Given the description of an element on the screen output the (x, y) to click on. 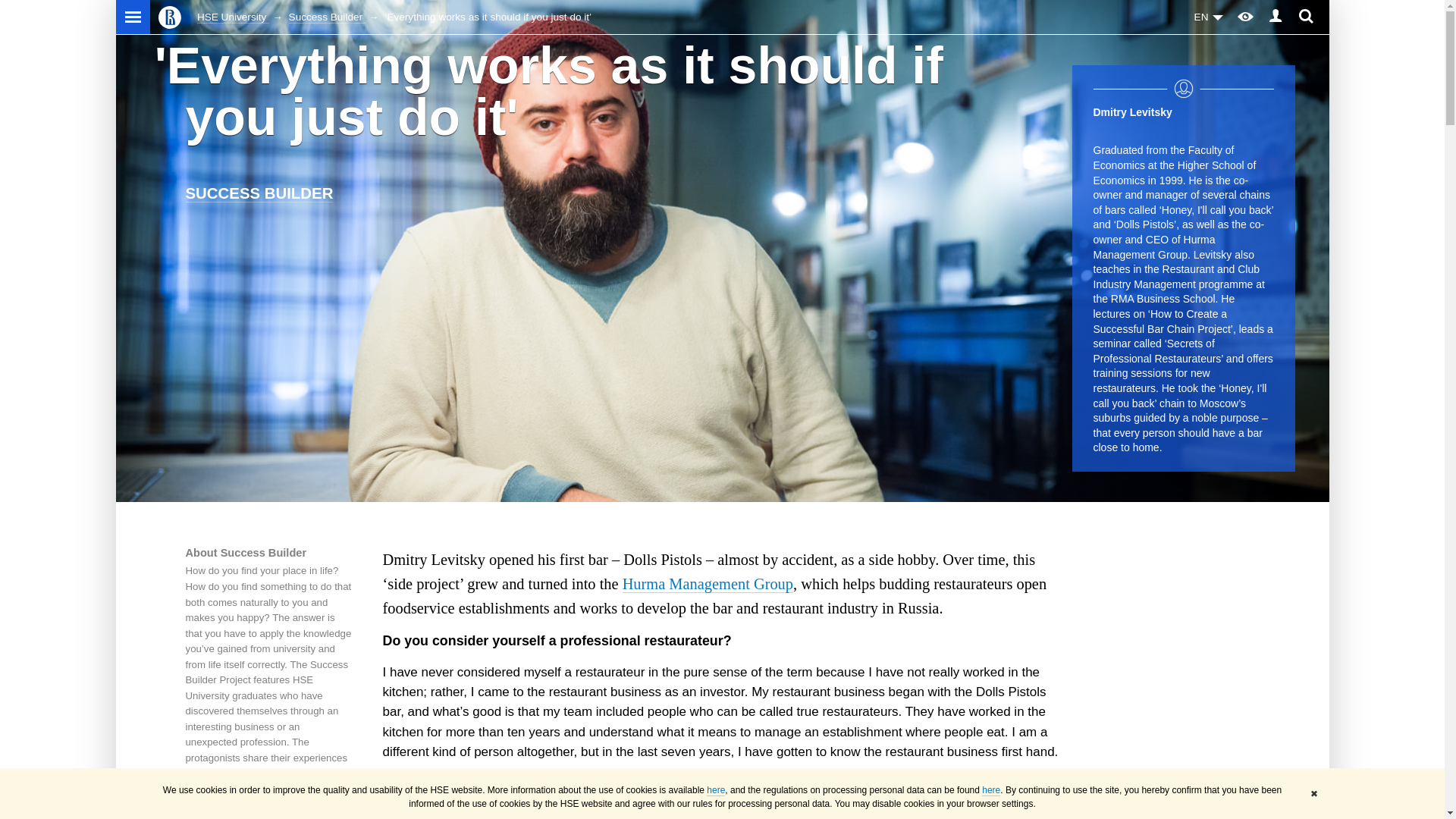
HSE University (232, 17)
here (990, 790)
here (715, 790)
Hurma Management Group (708, 583)
SUCCESS BUILDER (258, 193)
Success Builder (326, 17)
